Given the description of an element on the screen output the (x, y) to click on. 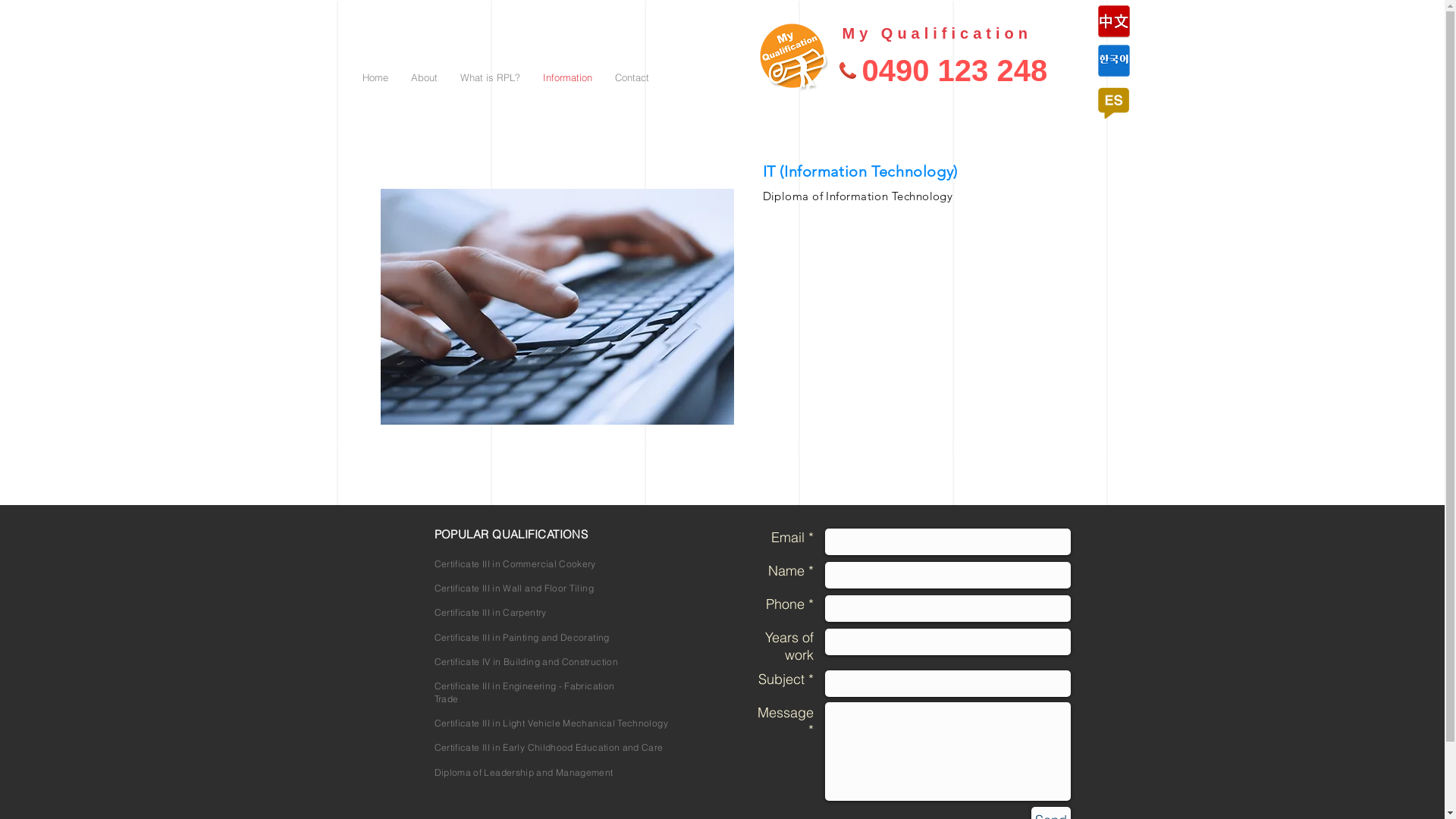
Certificate III in Early Childhood Education and Care Element type: text (547, 747)
Certificate III in Light Vehicle Mechanical Technology Element type: text (550, 722)
About Element type: text (423, 77)
Certificate III in Painting and Decorating Element type: text (520, 637)
What is RPL? Element type: text (489, 77)
Contact Element type: text (631, 77)
Home Element type: text (374, 77)
Certificate III in Carpentry Element type: text (489, 612)
Diploma of Leadership and Management Element type: text (522, 772)
Trade Element type: text (445, 698)
Certificate III in Commercial Cookery Element type: text (514, 563)
Certificate III in Engineering - Fabrication Element type: text (523, 685)
Certificate IV in Building and Construction Element type: text (525, 661)
Information Element type: text (566, 77)
Certificate III in Wall and Floor Tiling Element type: text (513, 587)
